Given the description of an element on the screen output the (x, y) to click on. 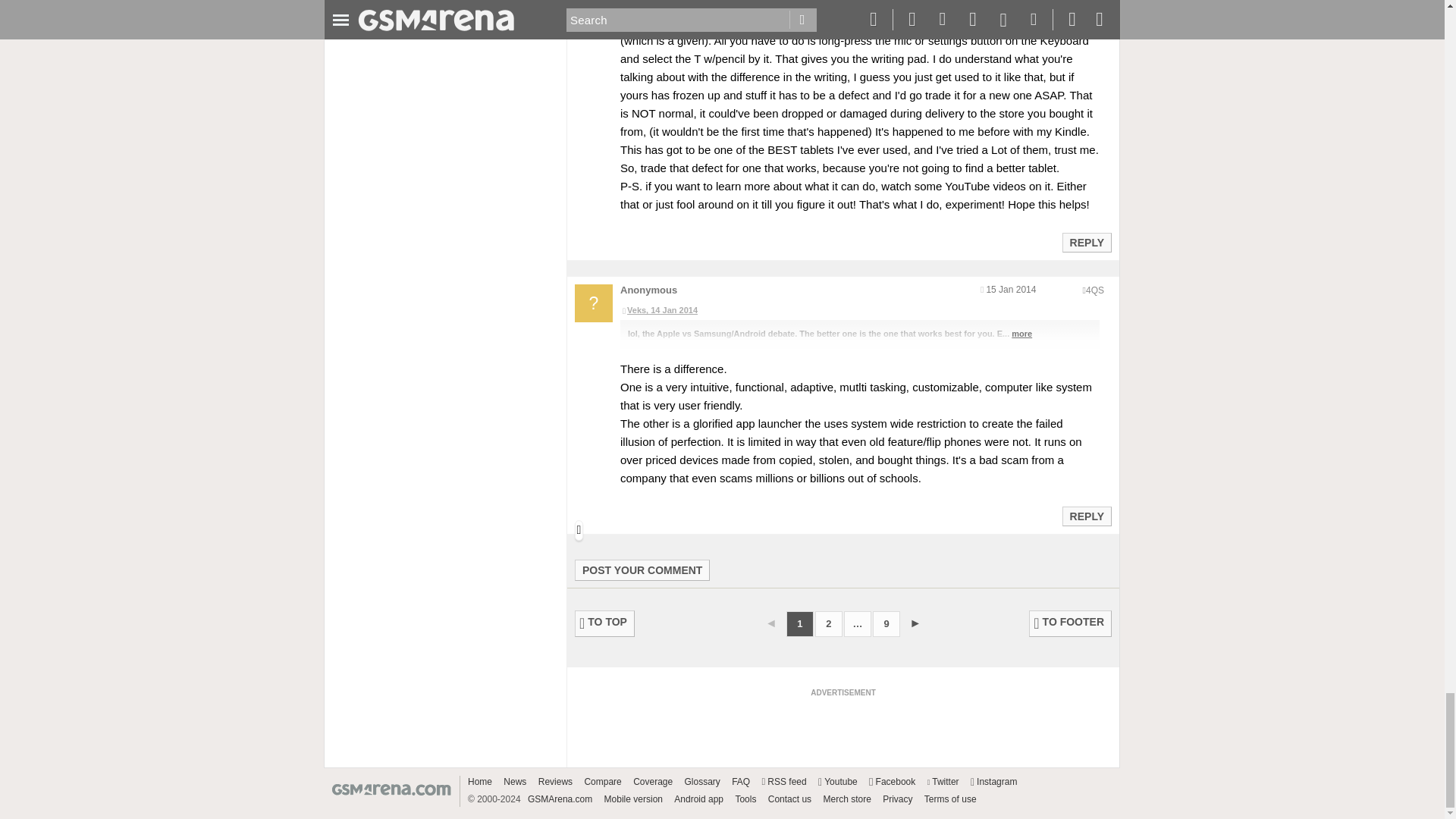
TO TOP (604, 623)
